Given the description of an element on the screen output the (x, y) to click on. 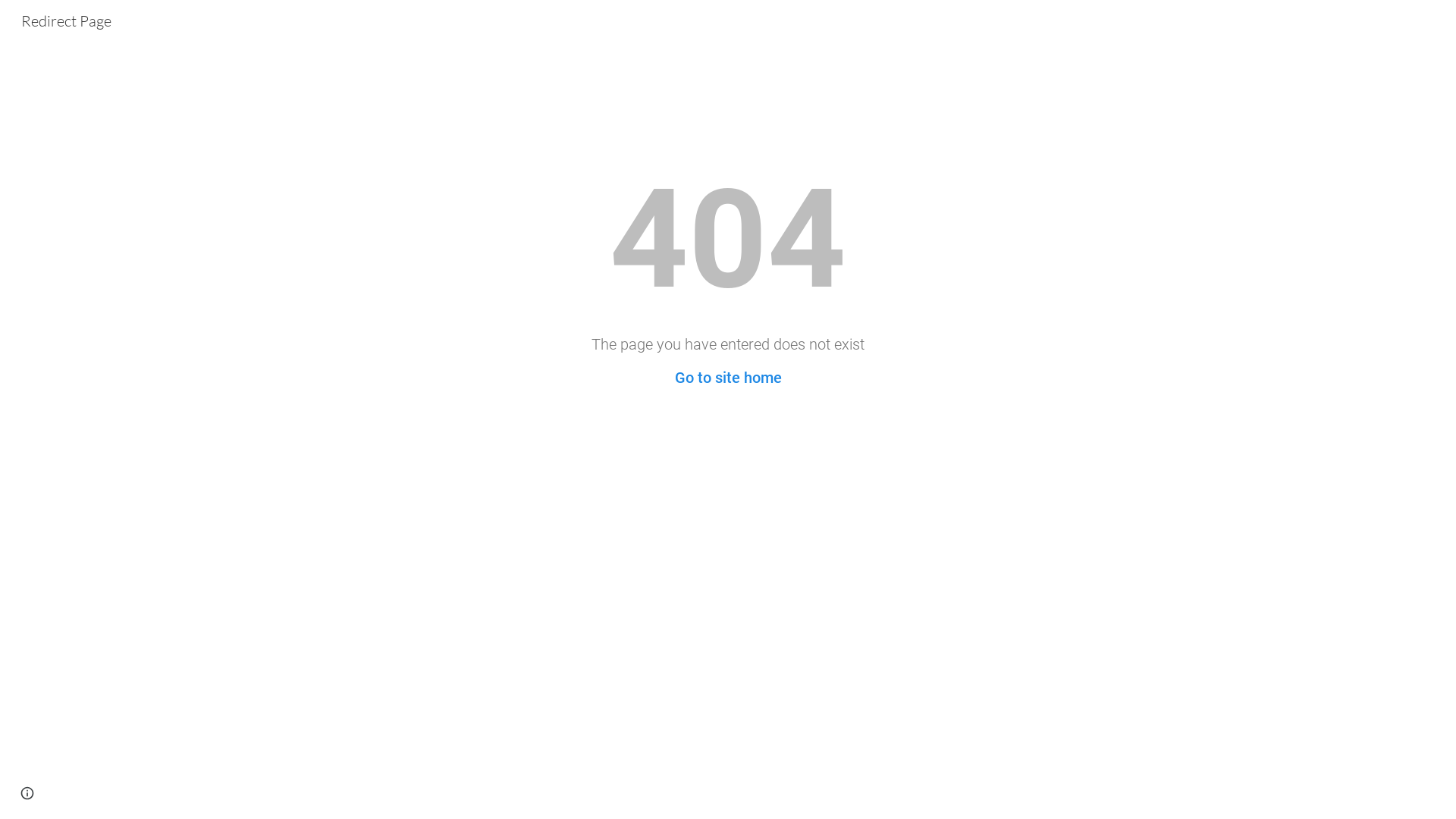
Go to site home Element type: text (727, 377)
Redirect Page Element type: text (66, 18)
